Given the description of an element on the screen output the (x, y) to click on. 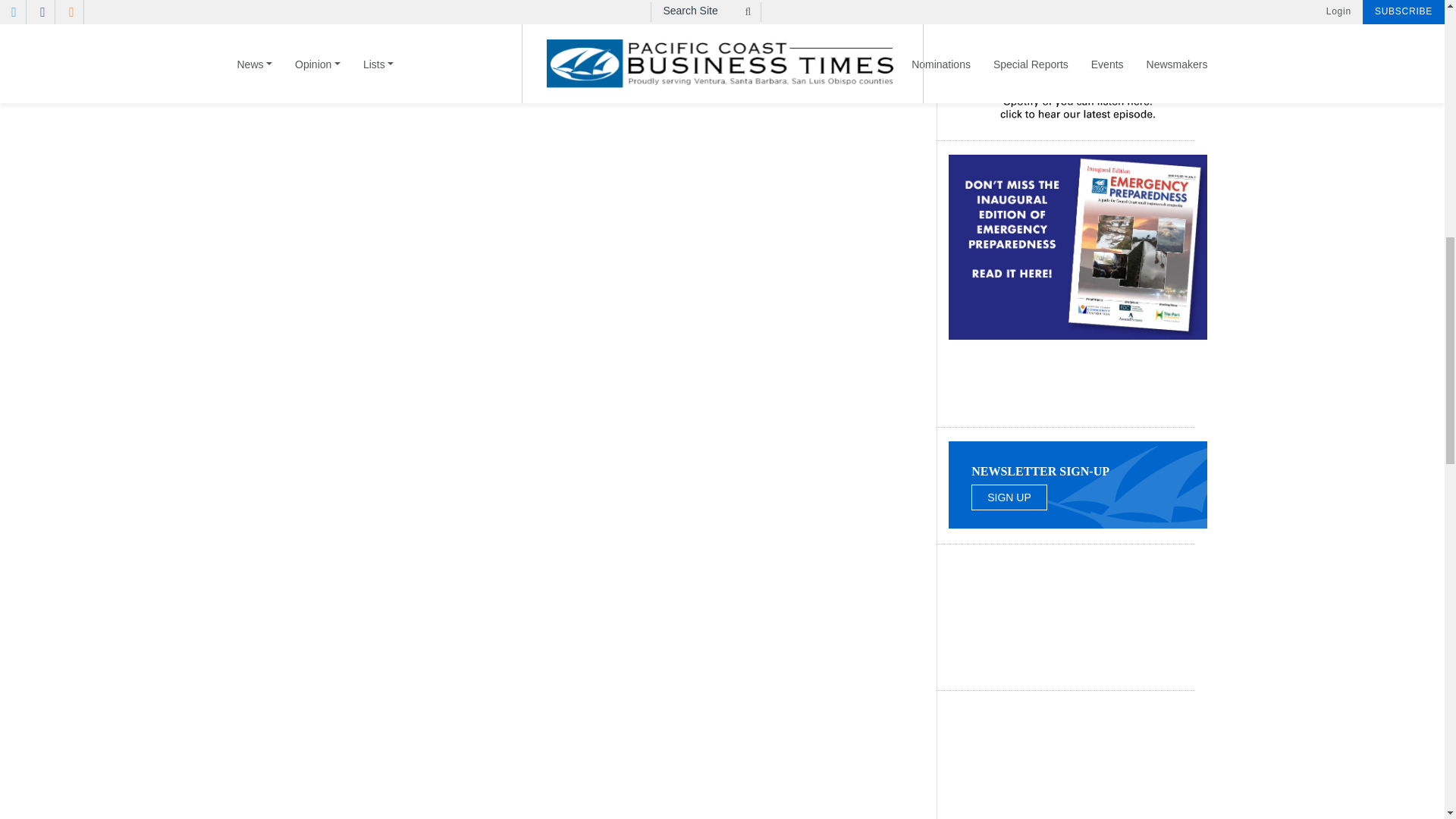
YouTube video player (1062, 614)
